Given the description of an element on the screen output the (x, y) to click on. 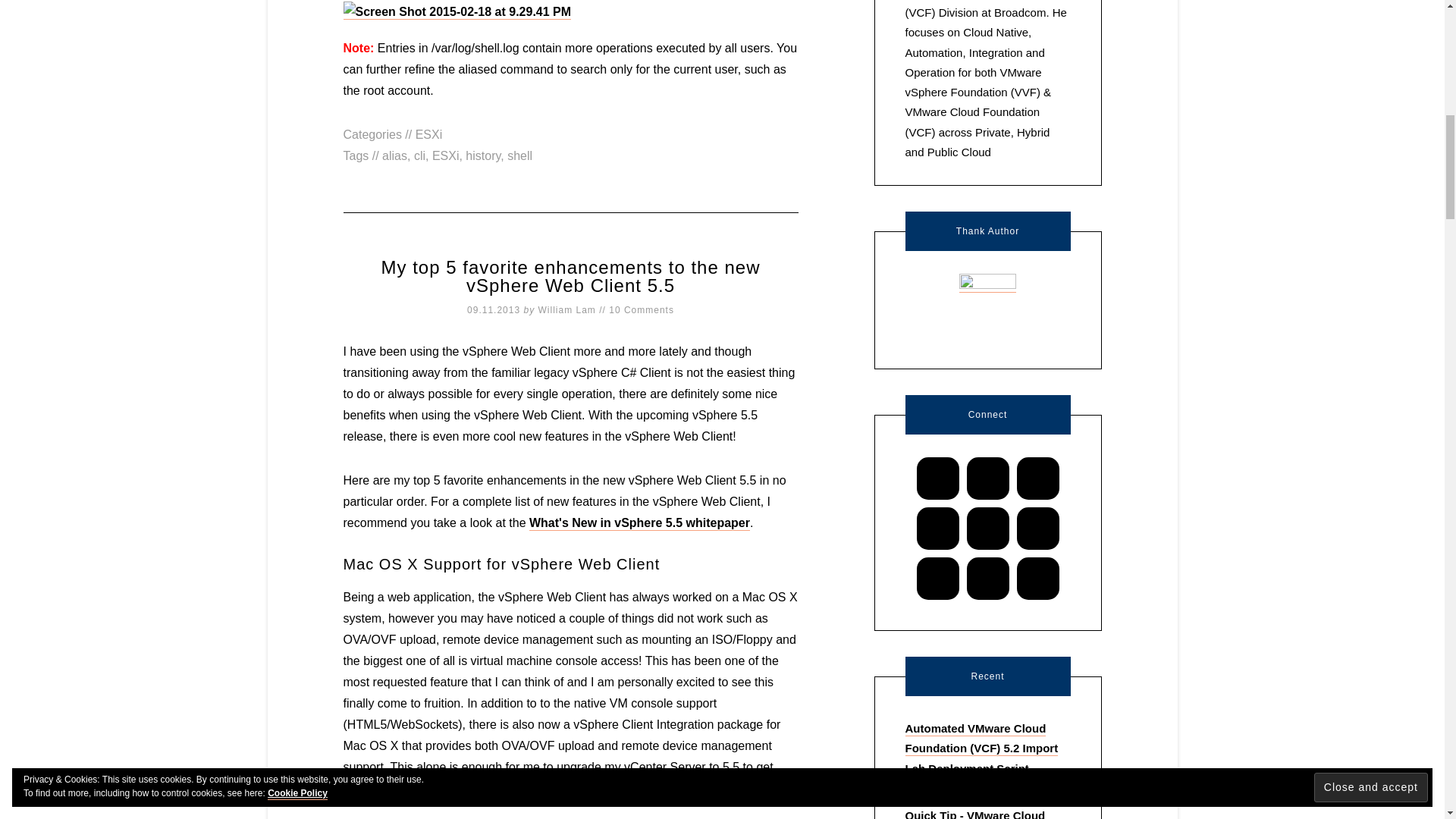
ESXi (446, 155)
10 Comments (641, 309)
history (482, 155)
RSS (937, 578)
Email (987, 478)
ESXi (428, 133)
Mastodon (987, 528)
Twitter (987, 578)
GitHub (1037, 478)
LinkedIn (937, 528)
Reddit (1037, 528)
Vimeo (1037, 578)
Bluesky (936, 478)
William Lam (566, 309)
shell (519, 155)
